Given the description of an element on the screen output the (x, y) to click on. 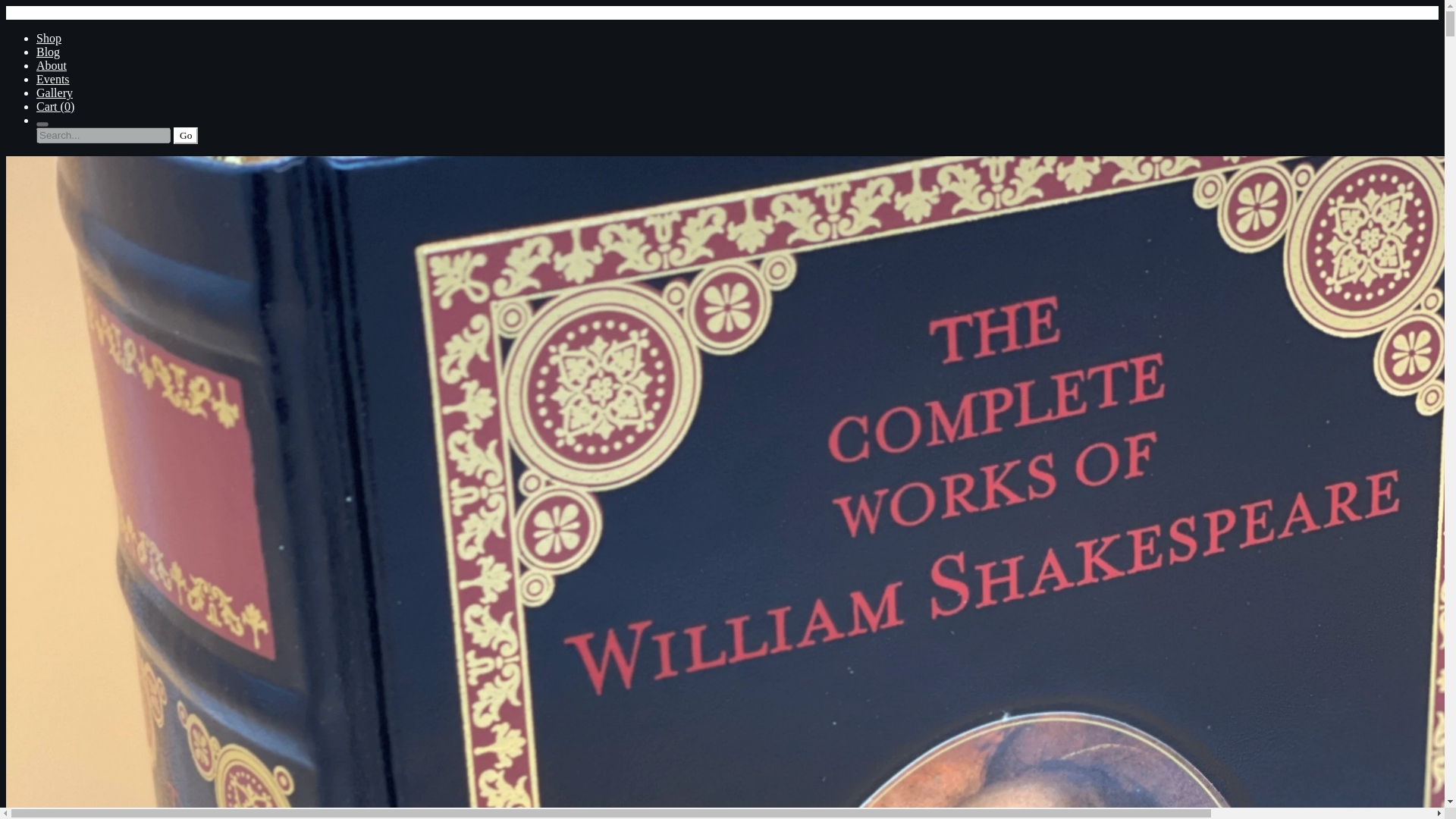
Events (52, 78)
Go (185, 135)
Shop (48, 38)
About (51, 65)
Gallery (54, 92)
Blog (47, 51)
Go (185, 135)
